Given the description of an element on the screen output the (x, y) to click on. 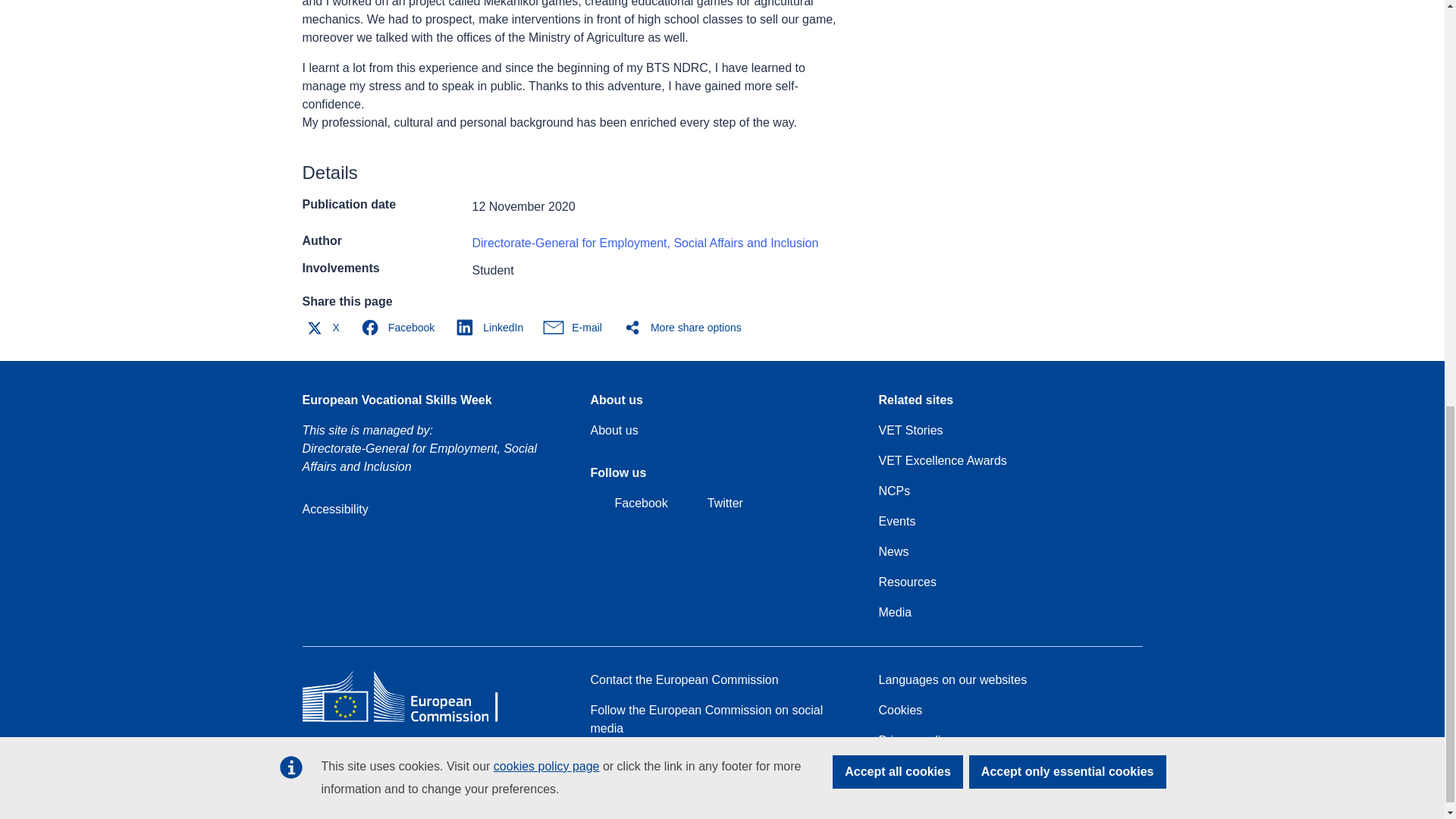
European Vocational Skills Week (396, 400)
Facebook (401, 327)
European Commission (411, 721)
Accessibility (334, 509)
Facebook (627, 503)
LinkedIn (492, 327)
E-mail (576, 327)
About us (613, 430)
X (324, 327)
More share options (685, 327)
